Given the description of an element on the screen output the (x, y) to click on. 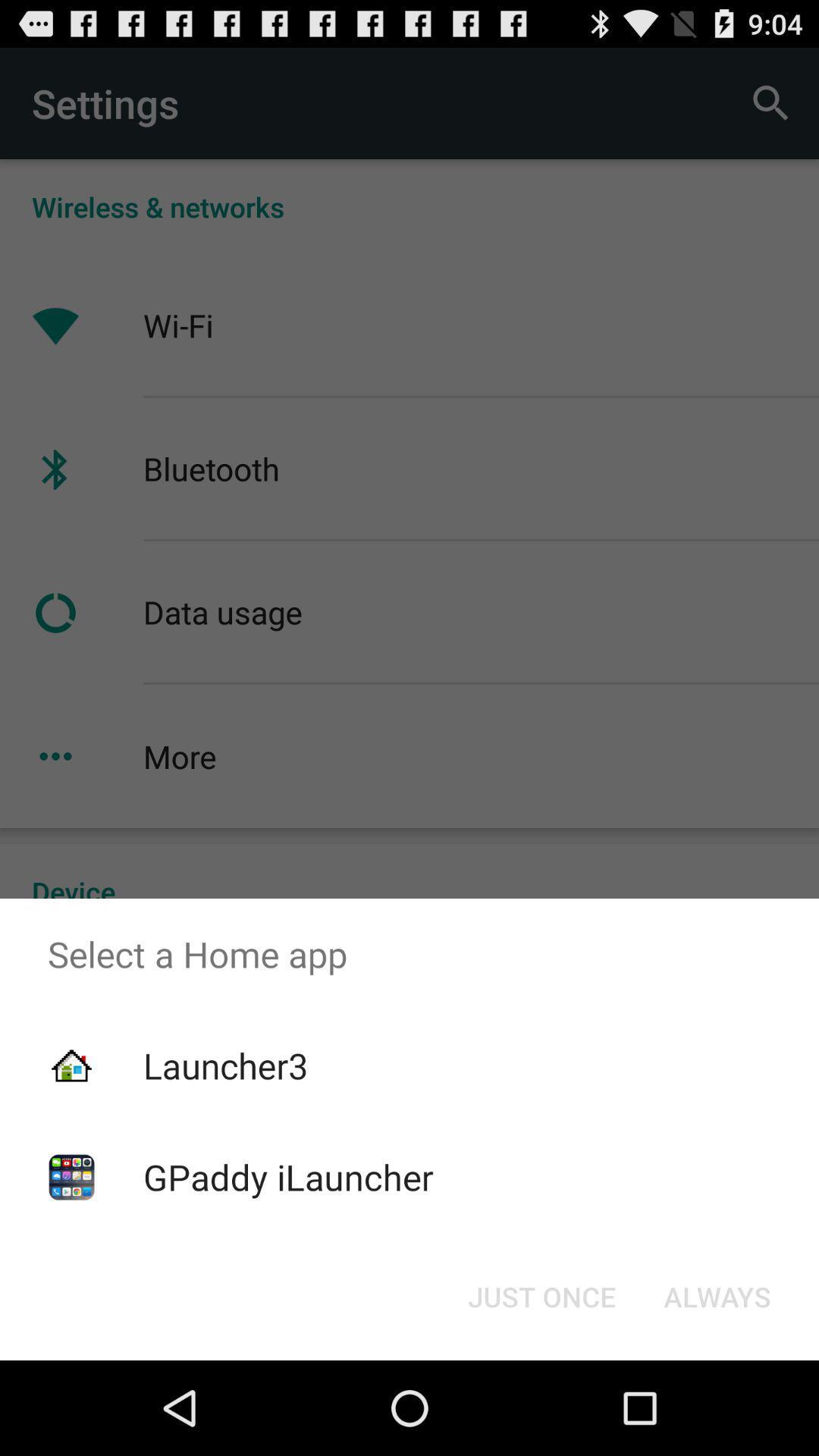
jump to the always item (717, 1296)
